Given the description of an element on the screen output the (x, y) to click on. 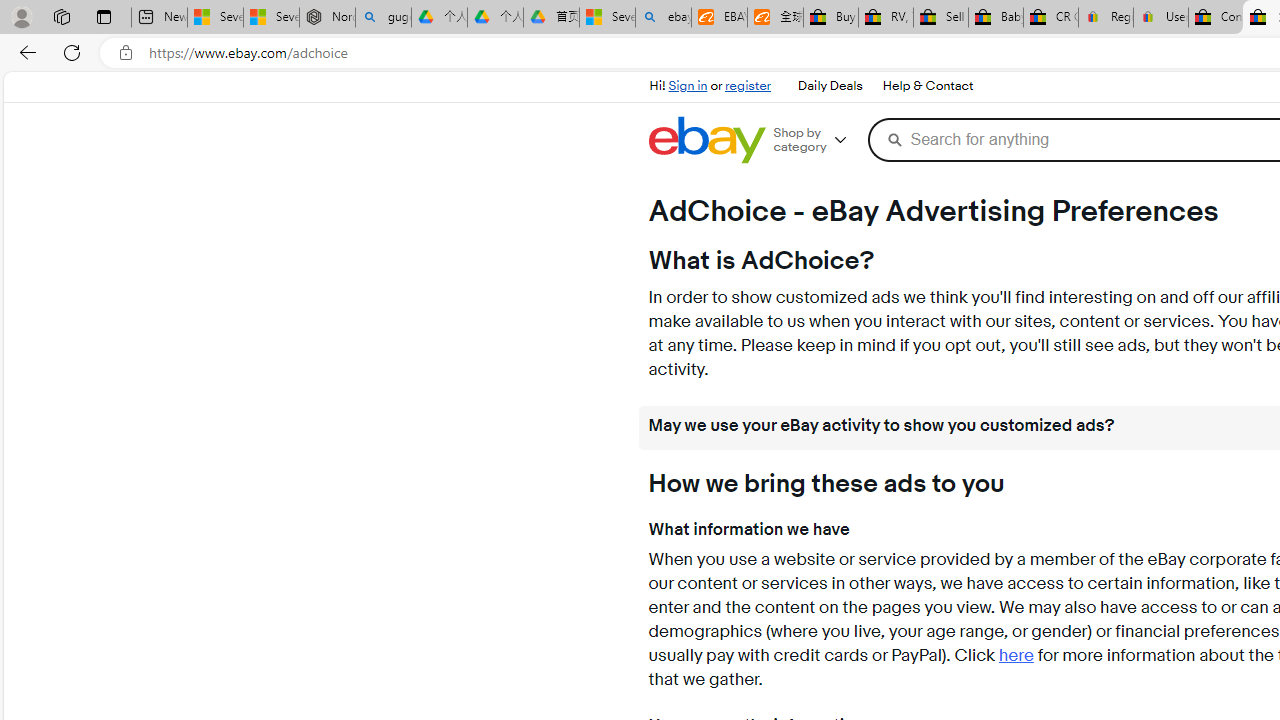
User Privacy Notice | eBay (1160, 17)
Daily Deals (829, 85)
here (1016, 655)
Shop by category (816, 140)
register (747, 85)
Help & Contact (926, 85)
